Given the description of an element on the screen output the (x, y) to click on. 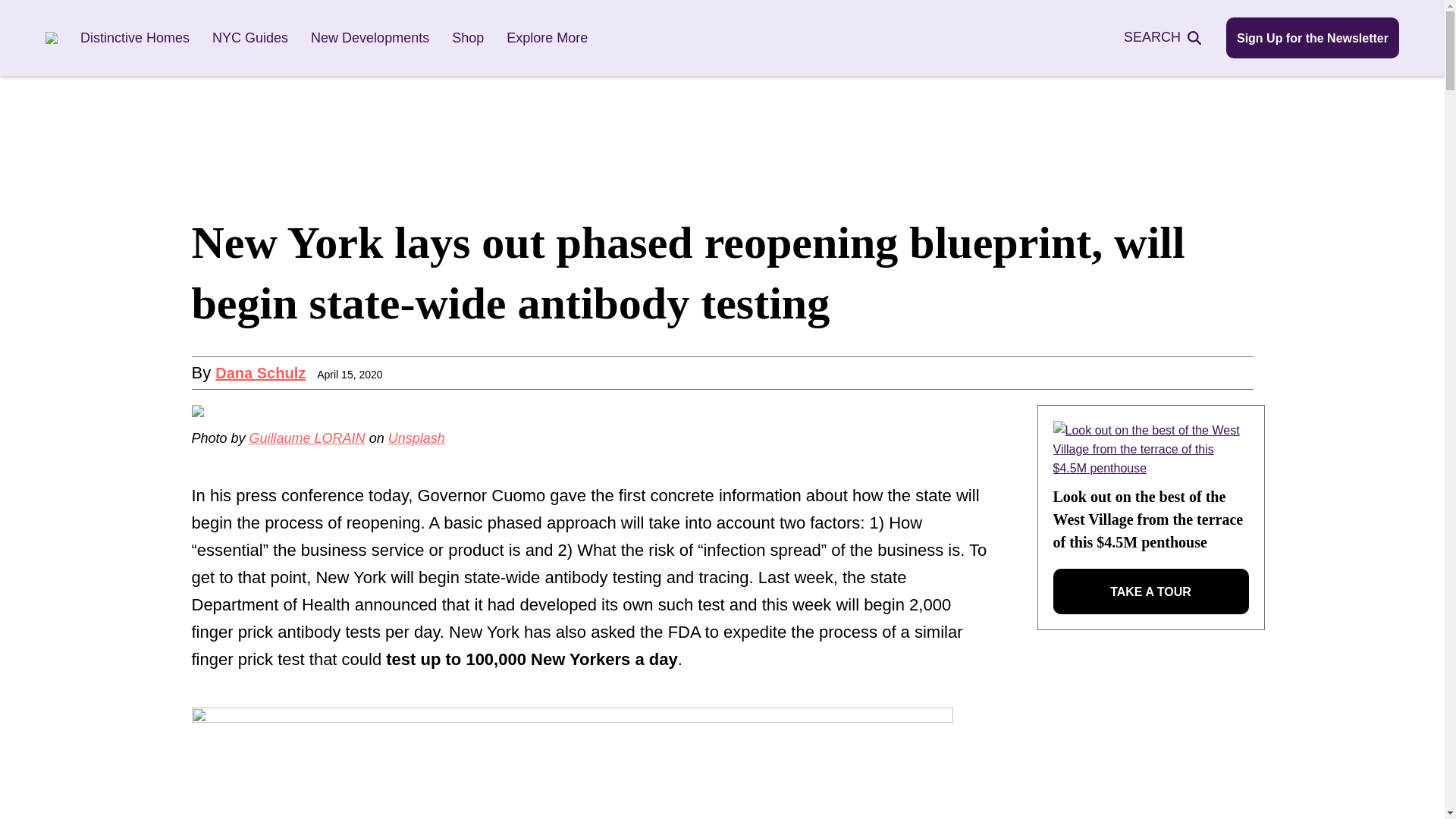
Sign Up for the Newsletter (1312, 37)
NYC Guides (250, 37)
Explore More (547, 37)
Shop (467, 37)
Unsplash (416, 437)
Distinctive Homes (134, 37)
Guillaume LORAIN (306, 437)
SEARCH (1171, 36)
Posts by Dana Schulz (260, 372)
